Given the description of an element on the screen output the (x, y) to click on. 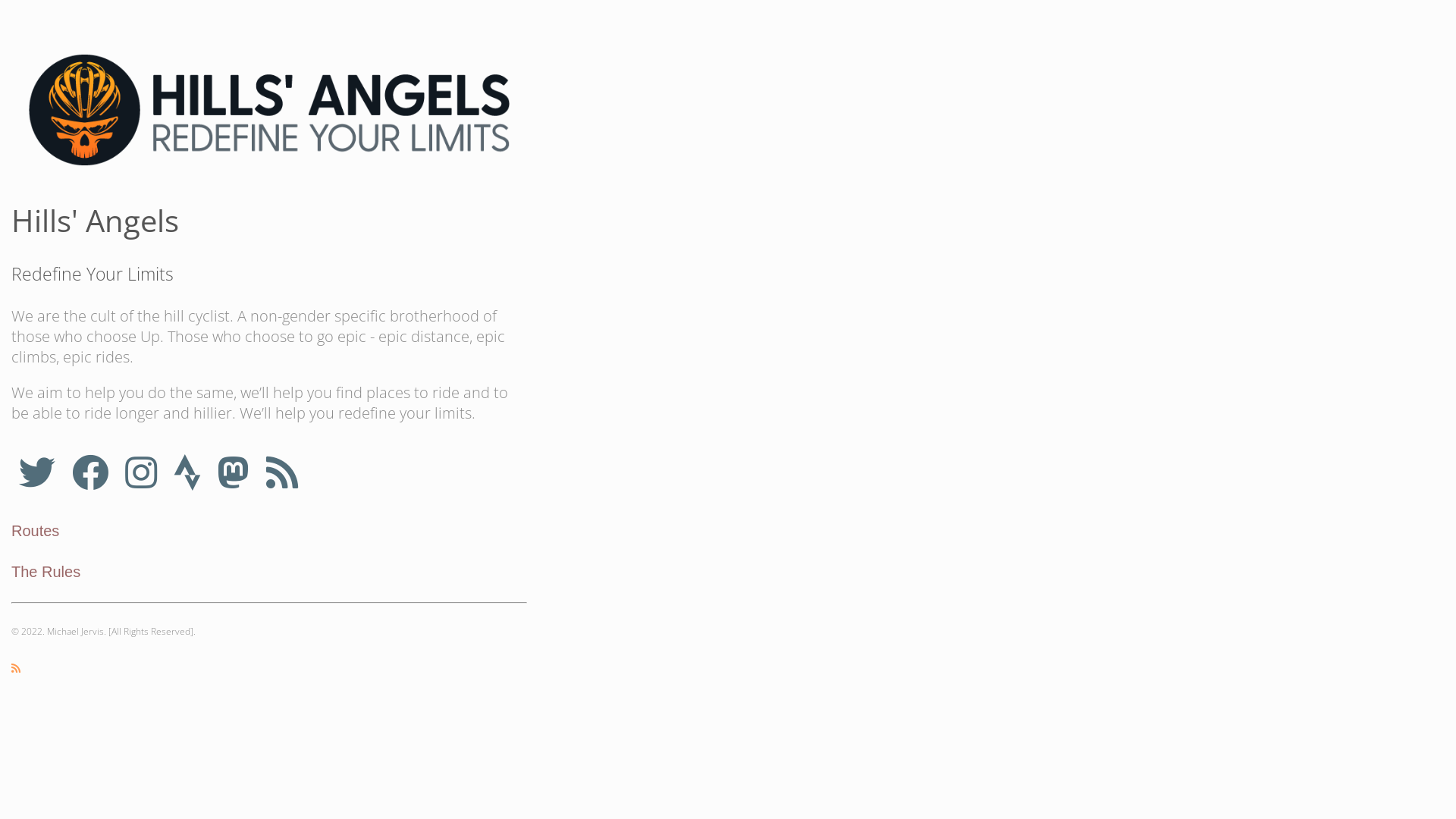
The Rules Element type: text (45, 571)
Routes Element type: text (35, 530)
